Given the description of an element on the screen output the (x, y) to click on. 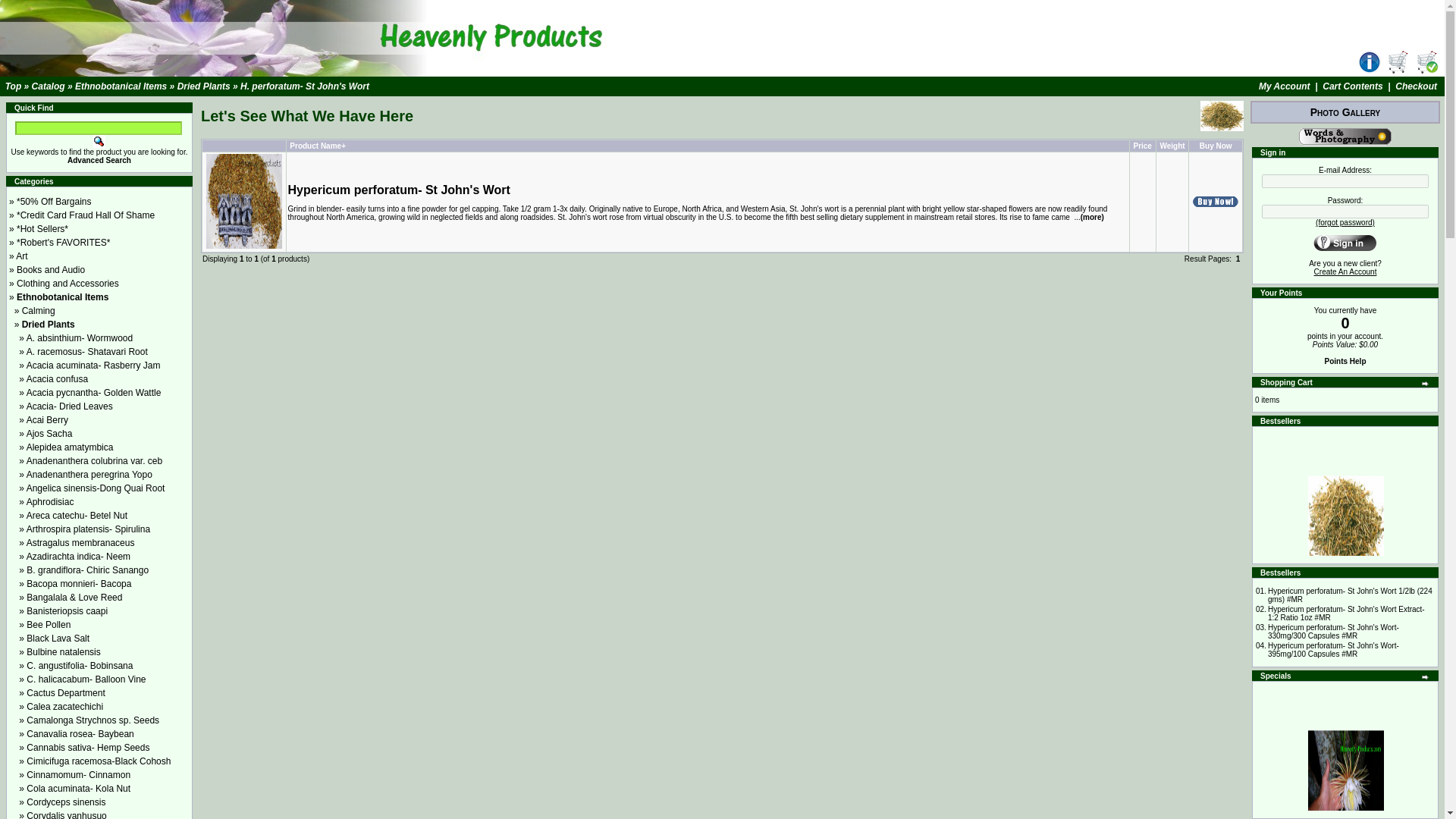
 Checkout  (1426, 61)
 Let's See What We Have Here  (1221, 115)
 Quick Find  (98, 141)
Arthrospira platensis- Spirulina (87, 529)
Azadirachta indica- Neem (78, 556)
Areca catechu- Betel Nut (77, 515)
 Words  (1344, 136)
 Buy Now  (1215, 200)
Cart Contents (1351, 86)
Calming (38, 310)
